Given the description of an element on the screen output the (x, y) to click on. 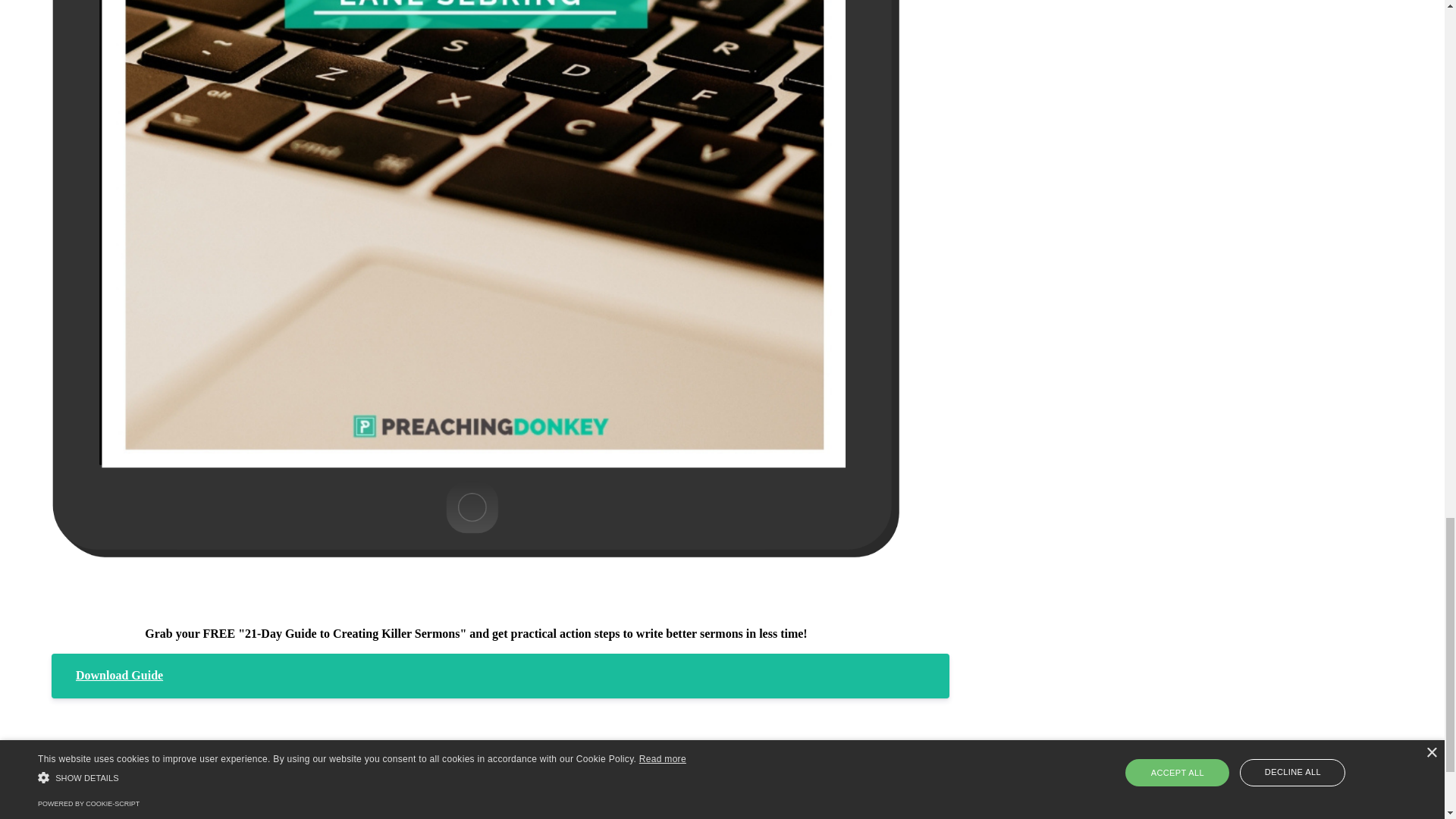
Download Guide (499, 675)
